Given the description of an element on the screen output the (x, y) to click on. 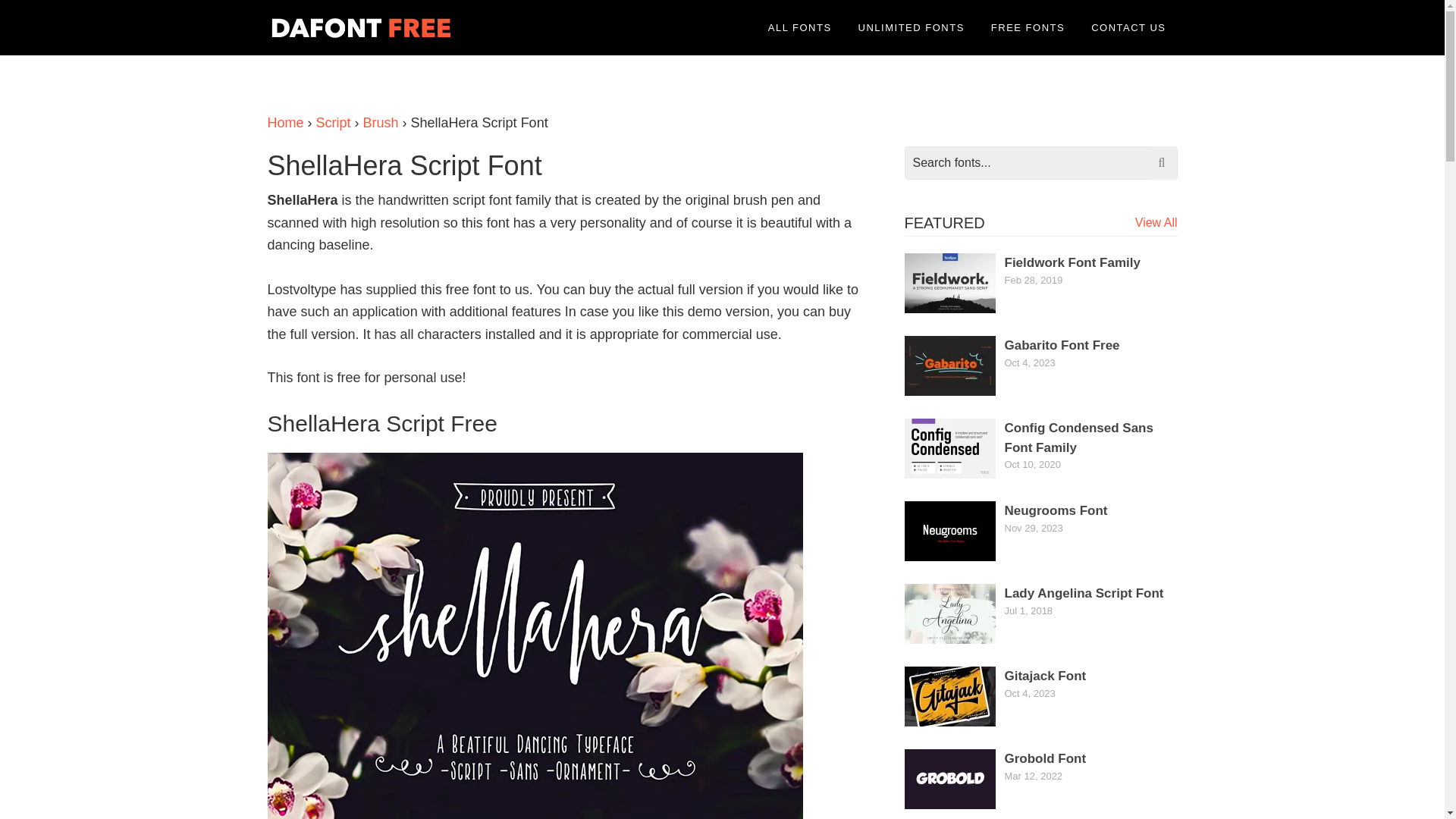
CONTACT US (1128, 27)
Brush (380, 122)
FREE FONTS (1027, 27)
ALL FONTS (800, 27)
Home (284, 122)
UNLIMITED FONTS (911, 27)
Script (332, 122)
